Given the description of an element on the screen output the (x, y) to click on. 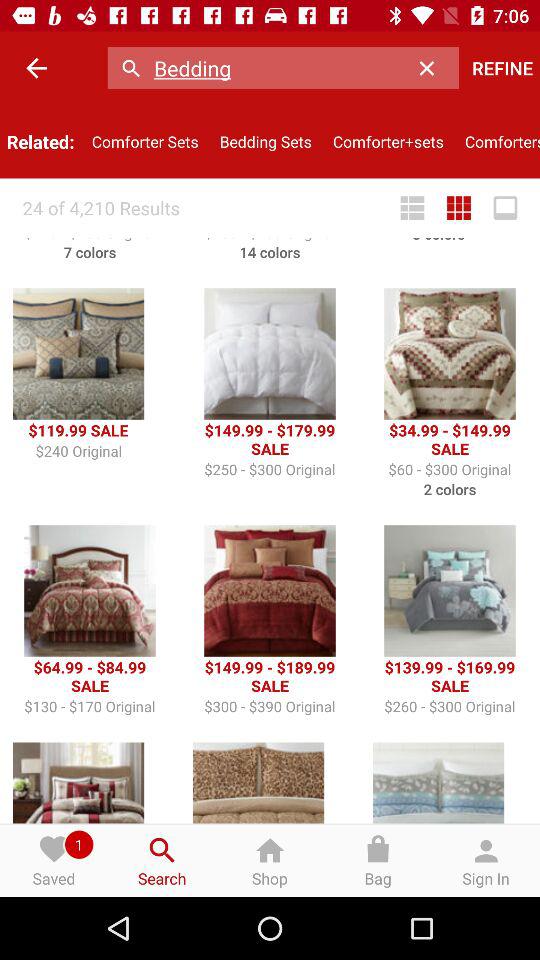
open icon next to the 24 of 4 item (412, 208)
